Given the description of an element on the screen output the (x, y) to click on. 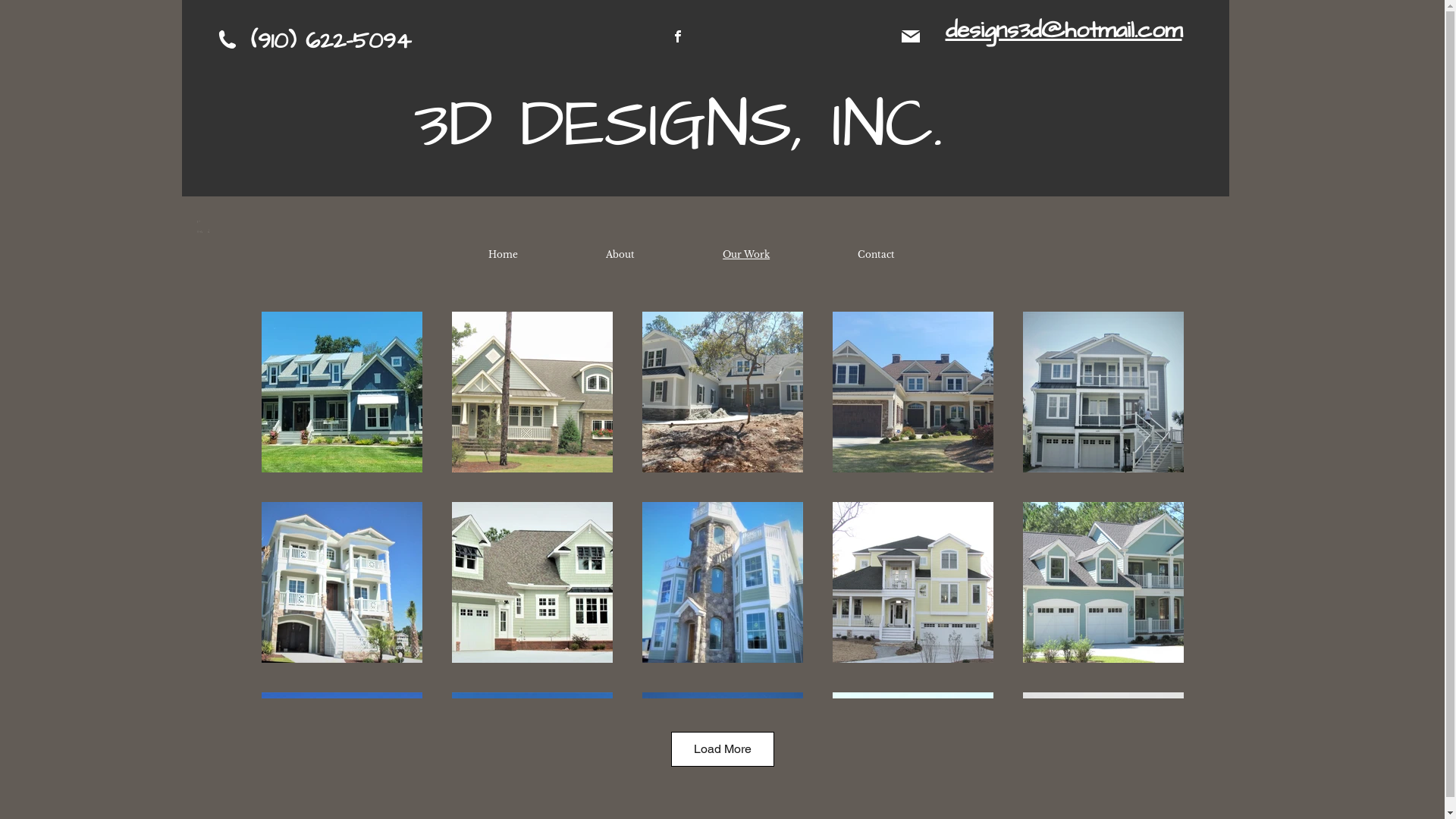
About Element type: text (619, 254)
designs3d@hotmail.com Element type: text (1062, 30)
Contact Element type: text (876, 254)
Load More Element type: text (721, 748)
Our Work Element type: text (745, 254)
Home Element type: text (502, 254)
